Given the description of an element on the screen output the (x, y) to click on. 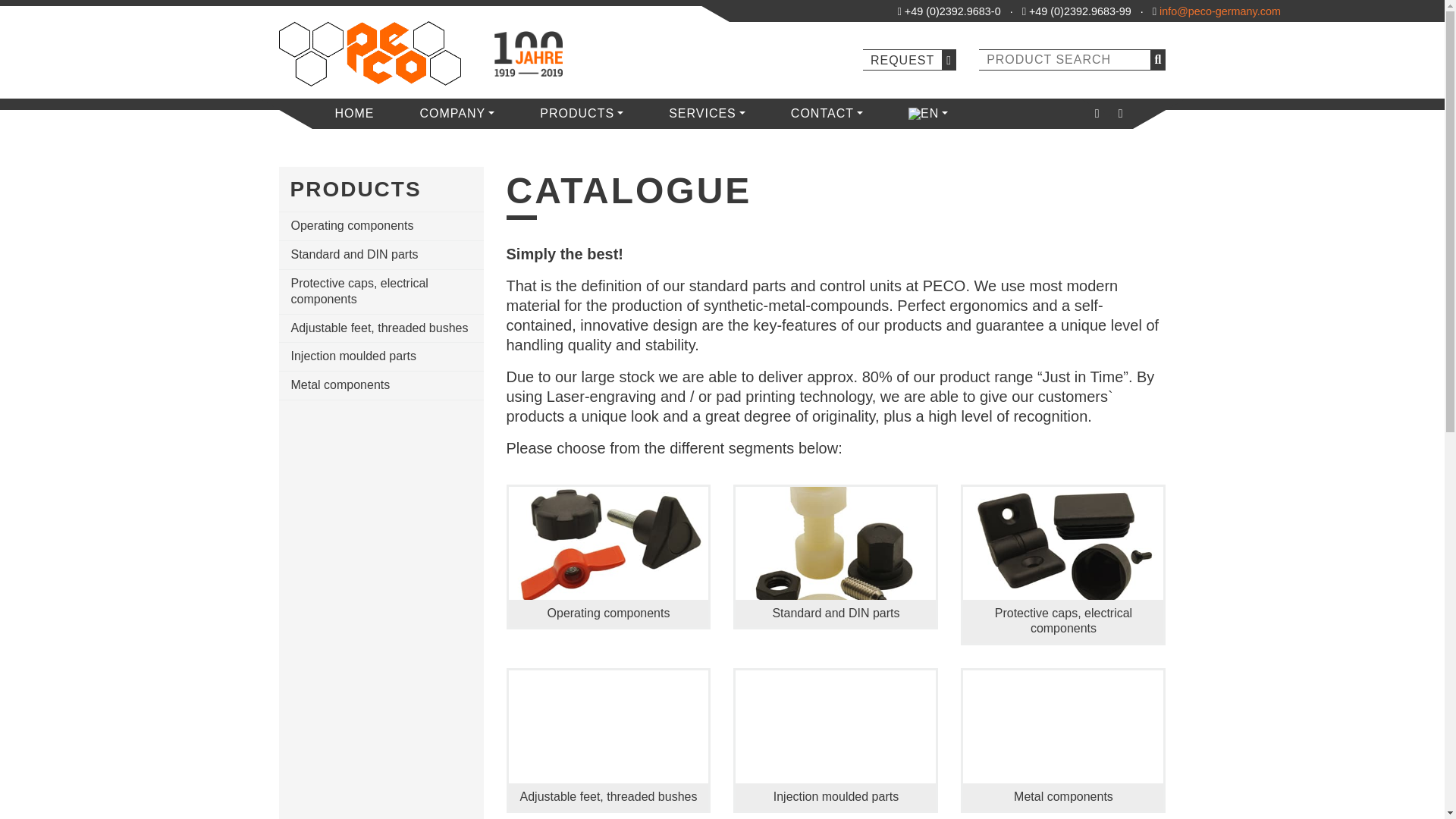
CONTACT (826, 113)
HOME (355, 113)
SERVICES (707, 113)
COMPANY (457, 113)
REQUEST (909, 59)
PRODUCTS (581, 113)
English (923, 113)
